Given the description of an element on the screen output the (x, y) to click on. 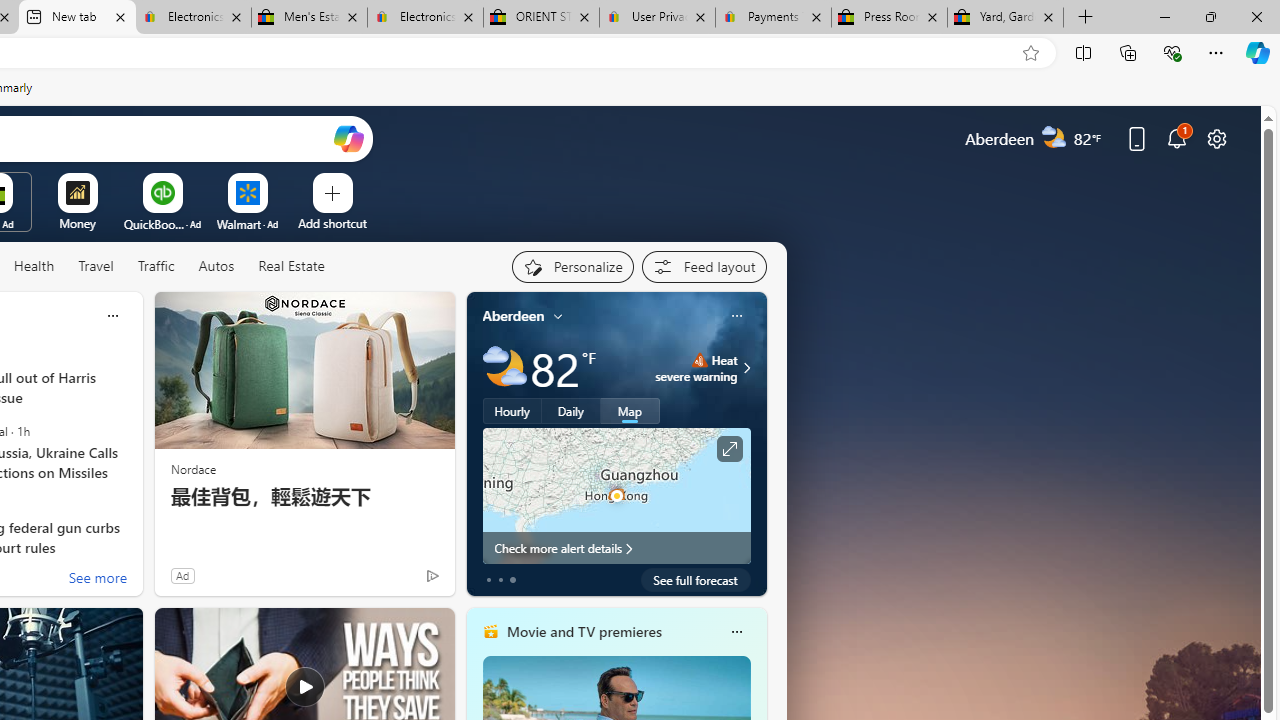
Daily (571, 411)
Partly cloudy (504, 368)
